Given the description of an element on the screen output the (x, y) to click on. 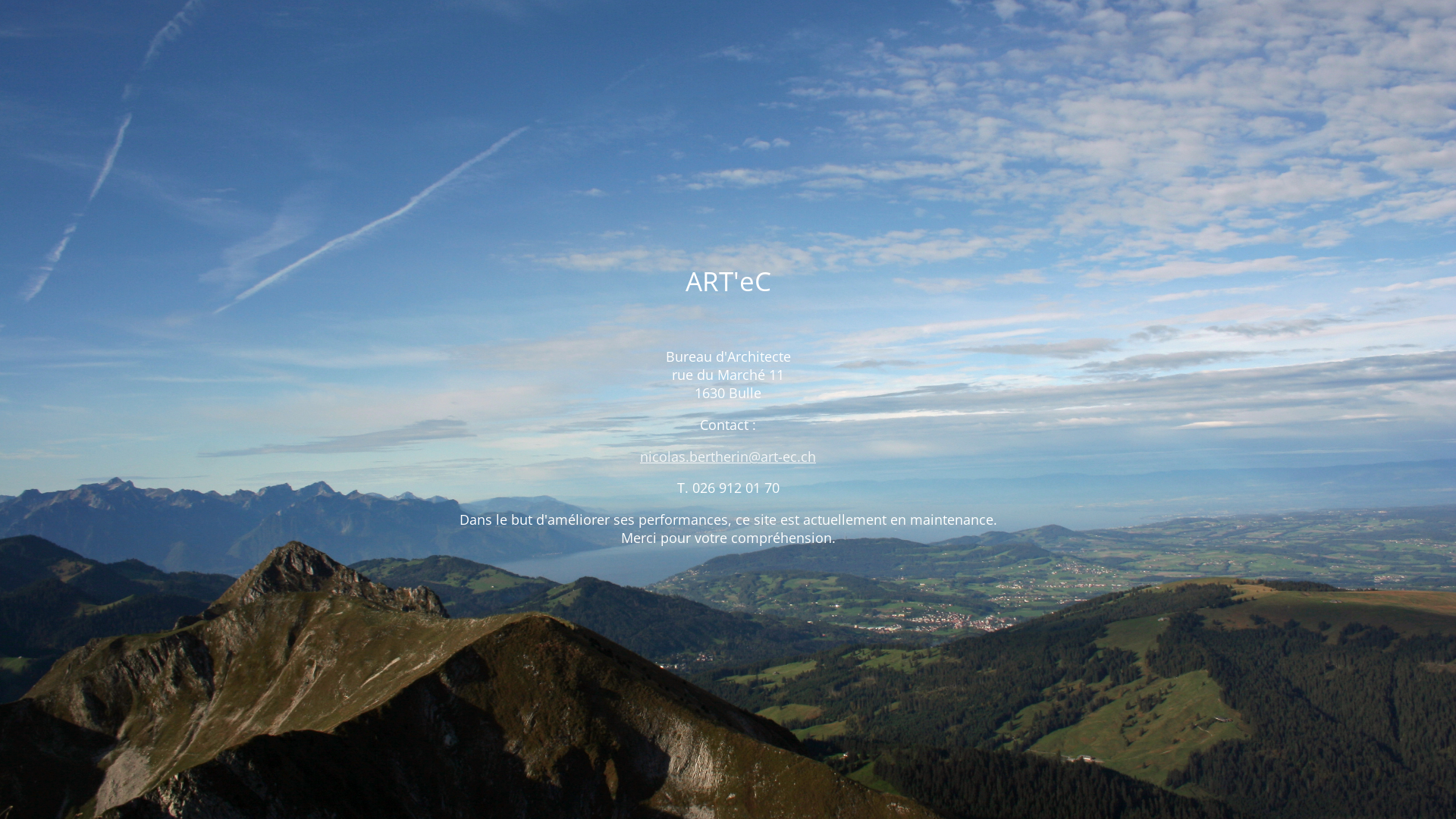
nicolas.bertherin@art-ec.ch Element type: text (727, 456)
